Given the description of an element on the screen output the (x, y) to click on. 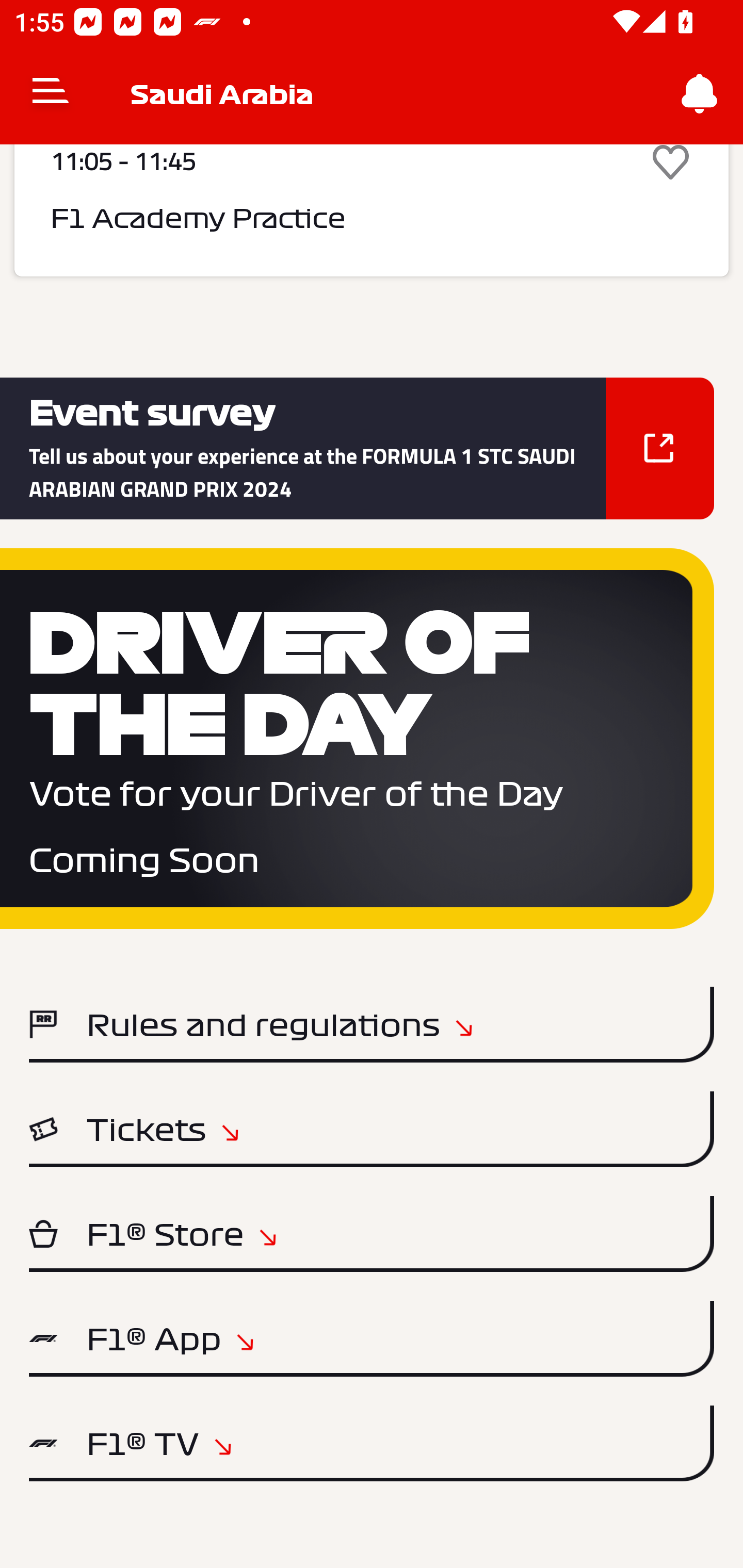
Navigate up (50, 93)
Notifications (699, 93)
11:05 - 11:45 F1 Academy Practice (371, 209)
Rules and regulations (371, 1024)
Tickets (371, 1128)
F1® Store (371, 1233)
F1® App (371, 1338)
F1® TV (371, 1442)
